Given the description of an element on the screen output the (x, y) to click on. 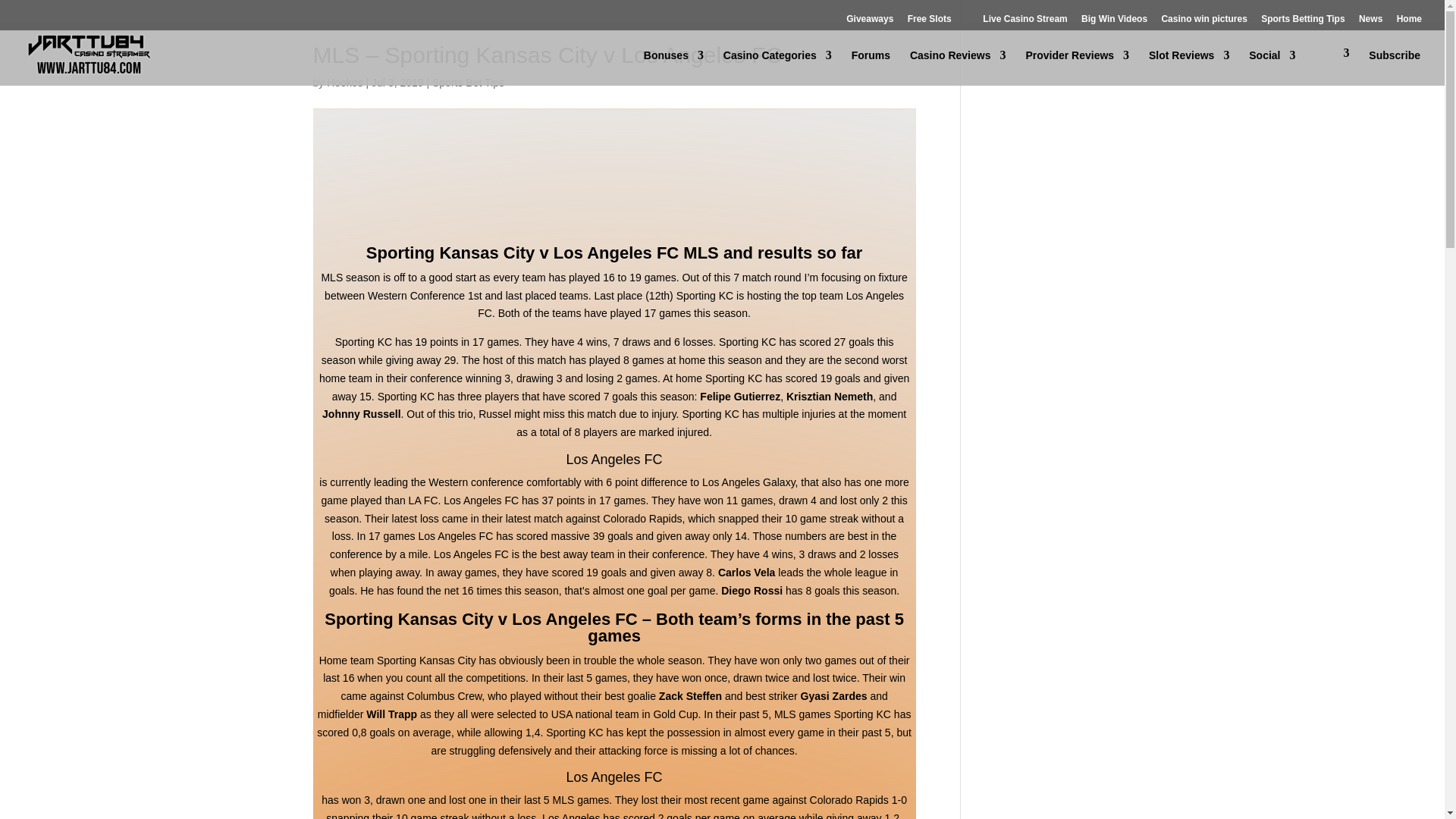
Sports Betting Tips (1301, 22)
Forums (870, 67)
Big Win Videos (1114, 22)
Back To Home (1409, 22)
Join the Jarttu84 Giveaways (860, 18)
Home (1409, 22)
News (1369, 22)
Read the latest Sports Betting Tips (1301, 22)
Casino win pictures (1203, 22)
Watch the Jarttu84 Live Casino Stream (1016, 18)
